Given the description of an element on the screen output the (x, y) to click on. 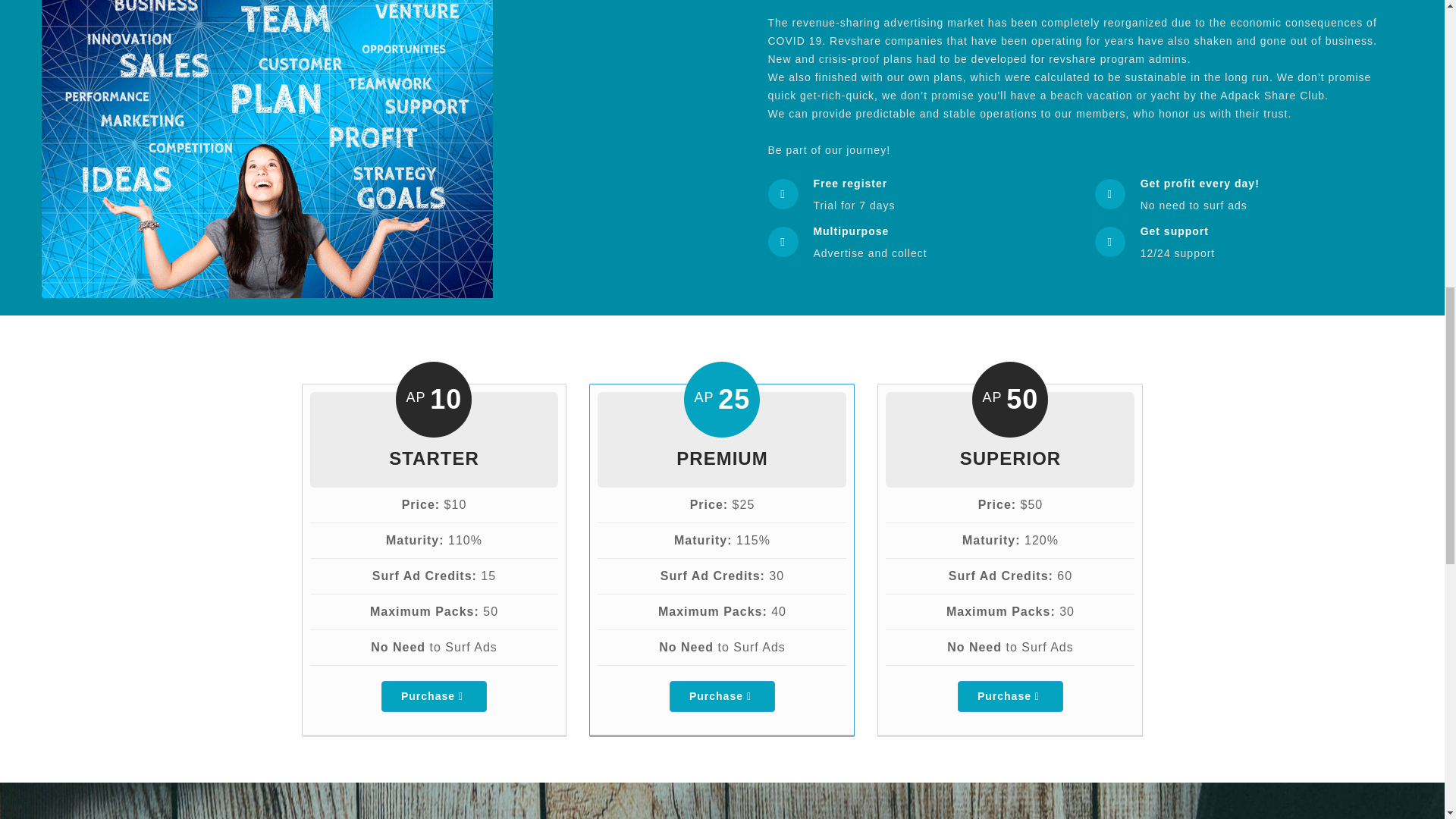
Purchase (721, 695)
Purchase (433, 695)
Purchase (1010, 695)
